Given the description of an element on the screen output the (x, y) to click on. 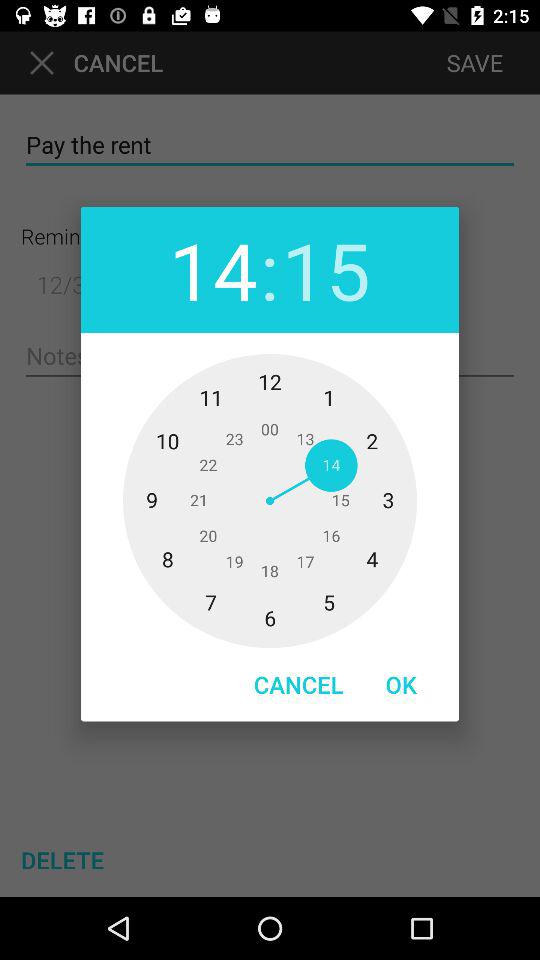
turn off the ok item (401, 684)
